Given the description of an element on the screen output the (x, y) to click on. 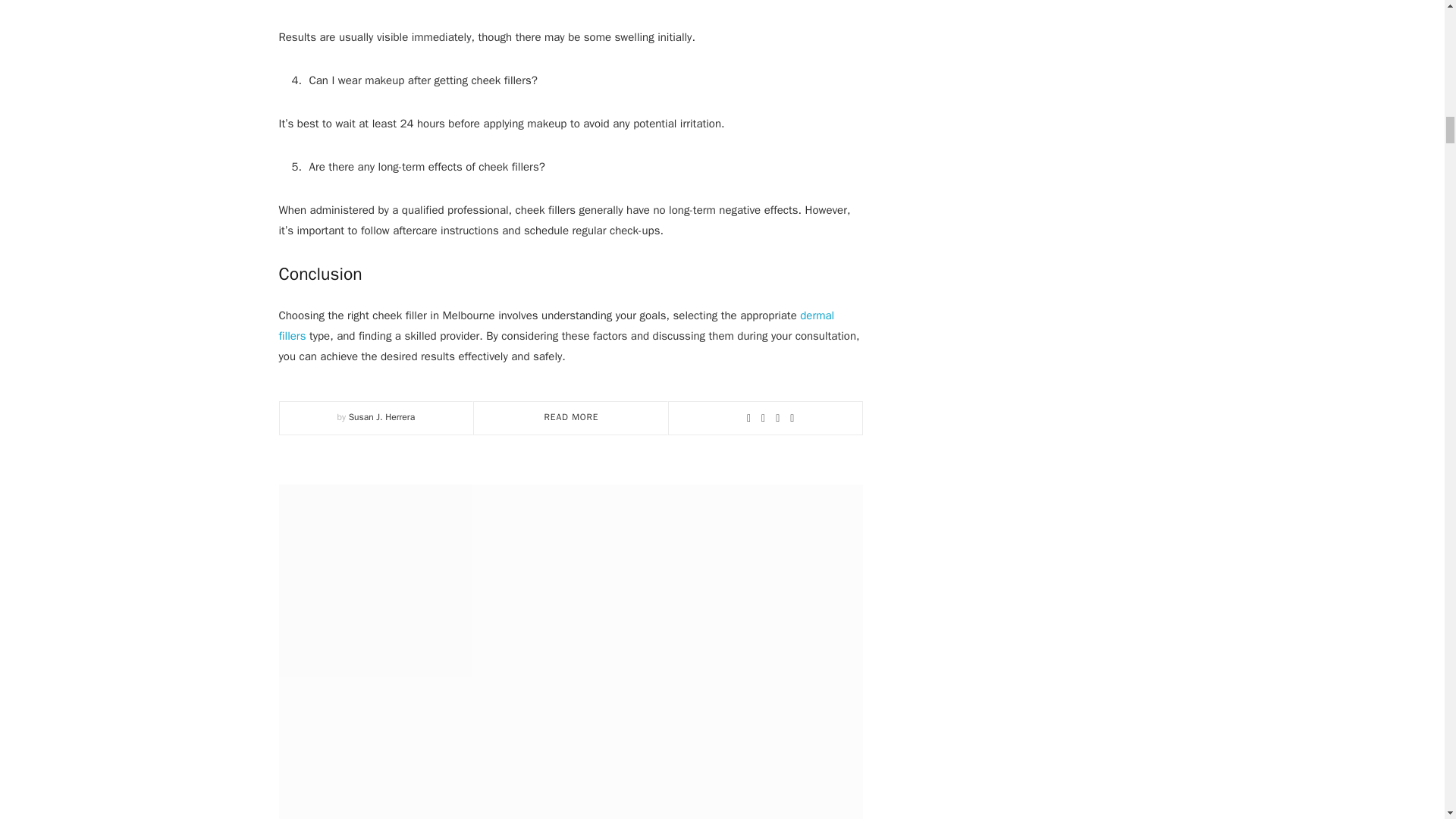
Posts by Susan J. Herrera (381, 417)
READ MORE (571, 417)
dermal fillers (556, 325)
Susan J. Herrera (381, 417)
